Given the description of an element on the screen output the (x, y) to click on. 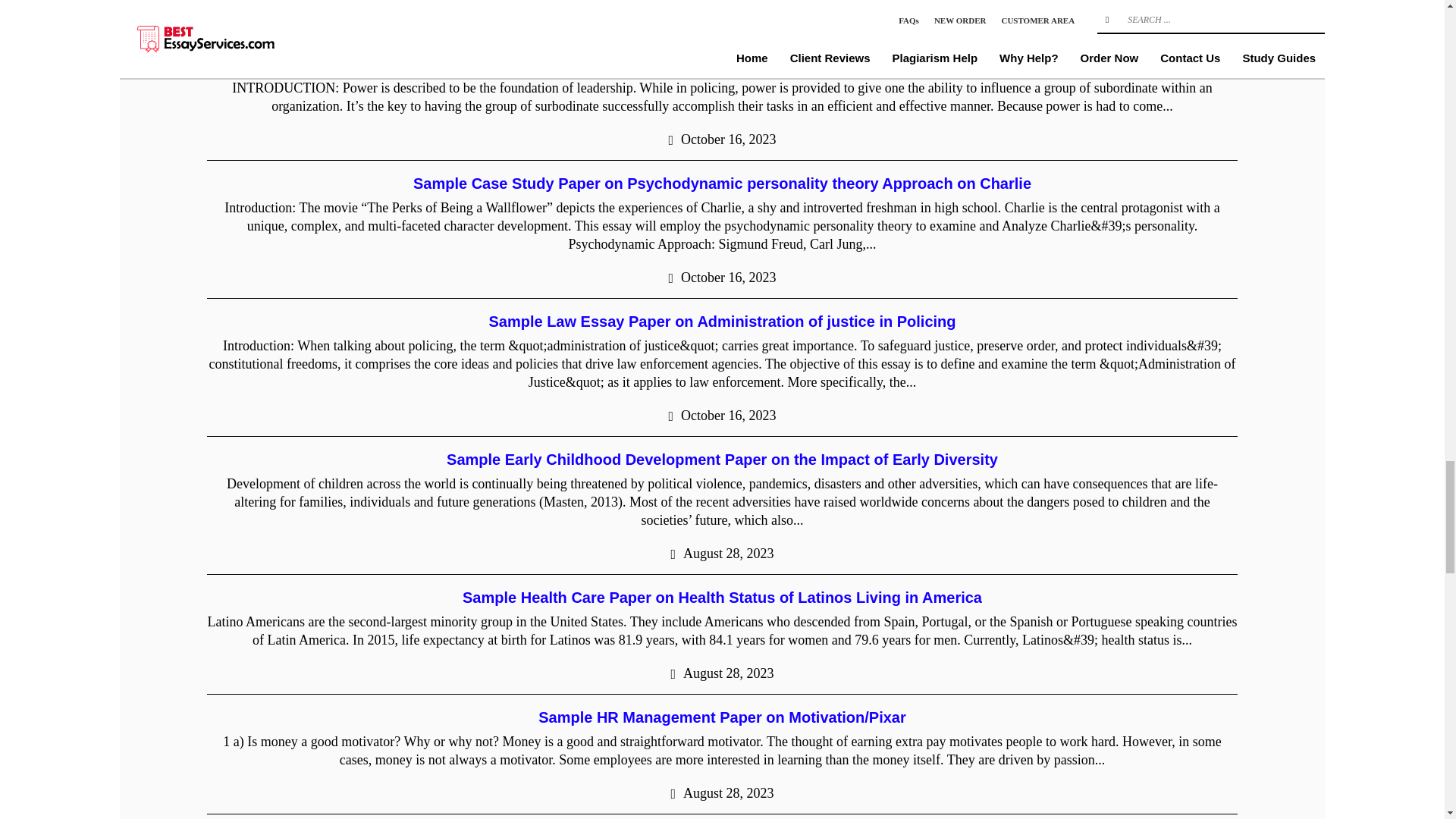
Sample Law Essay Paper on Leadership Vs. Power in Policing (720, 63)
